Given the description of an element on the screen output the (x, y) to click on. 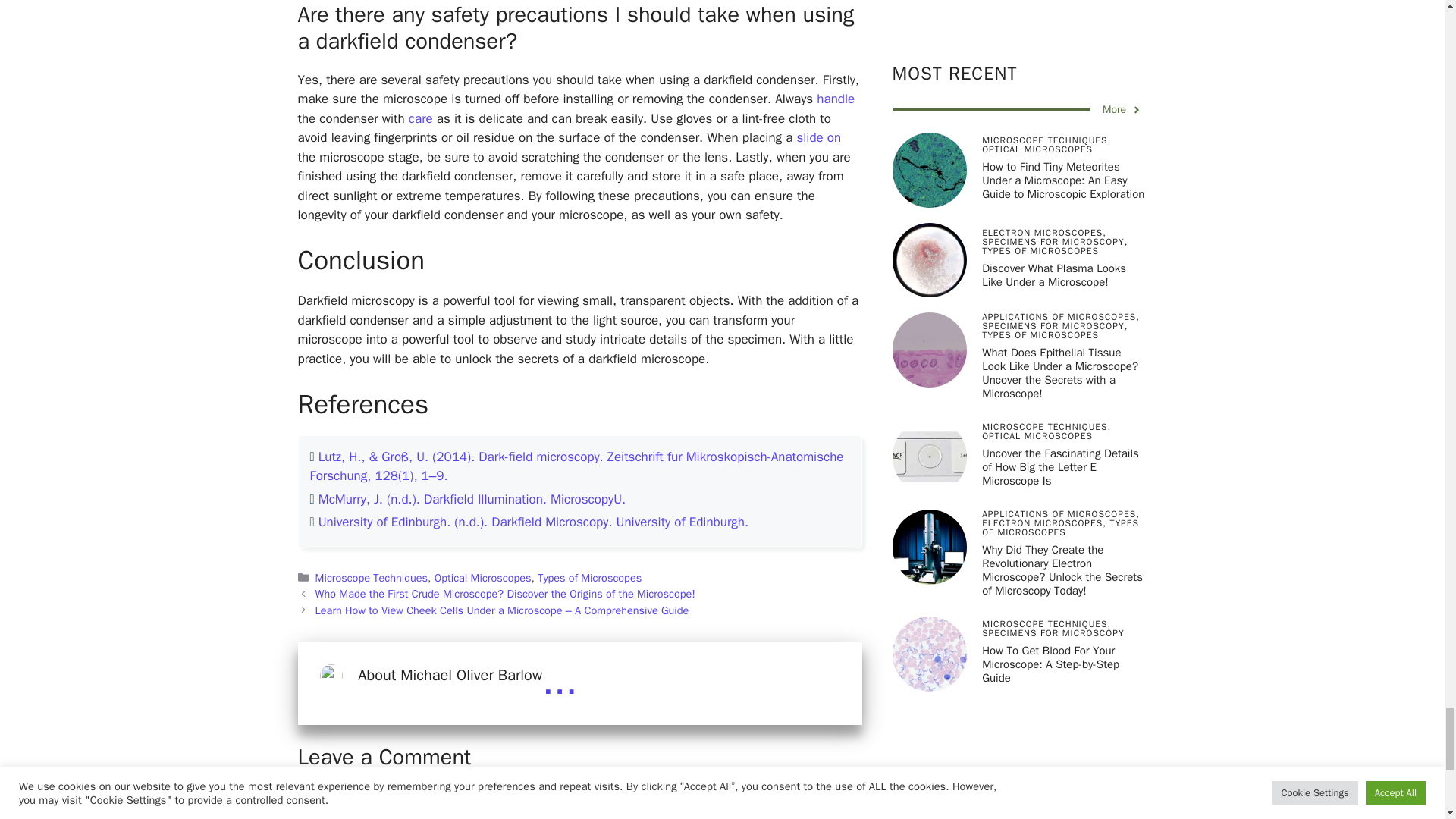
Read more (558, 681)
